Given the description of an element on the screen output the (x, y) to click on. 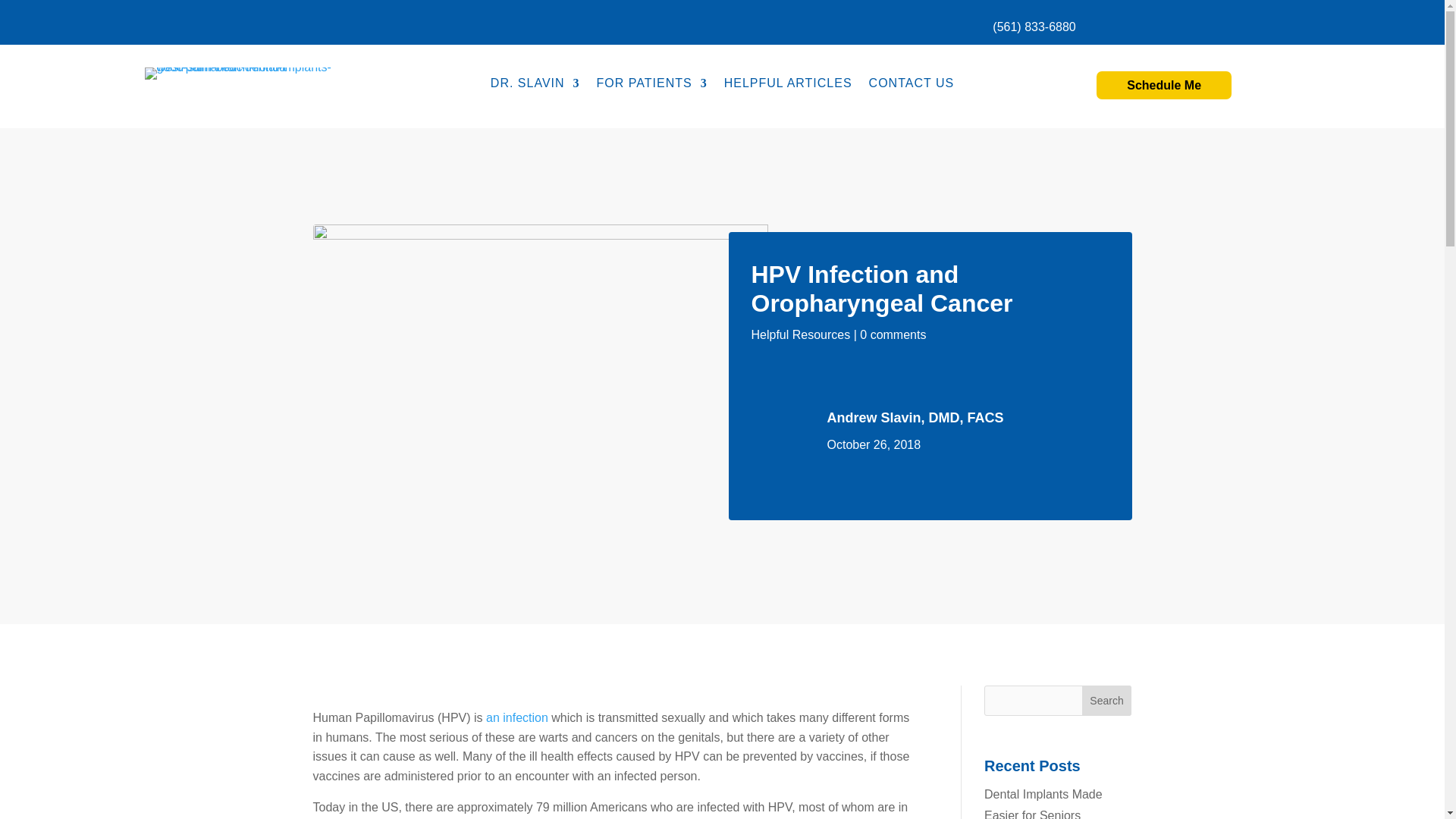
FOR PATIENTS (651, 86)
DR. SLAVIN (534, 86)
CONTACT US (912, 86)
0 comments (893, 334)
Search (1106, 700)
Helpful Resources (800, 334)
HELPFUL ARTICLES (787, 86)
Schedule Me (1163, 85)
good-samaritan-dental-implants-west-palm-beach-florida (245, 73)
an infection (517, 717)
